Given the description of an element on the screen output the (x, y) to click on. 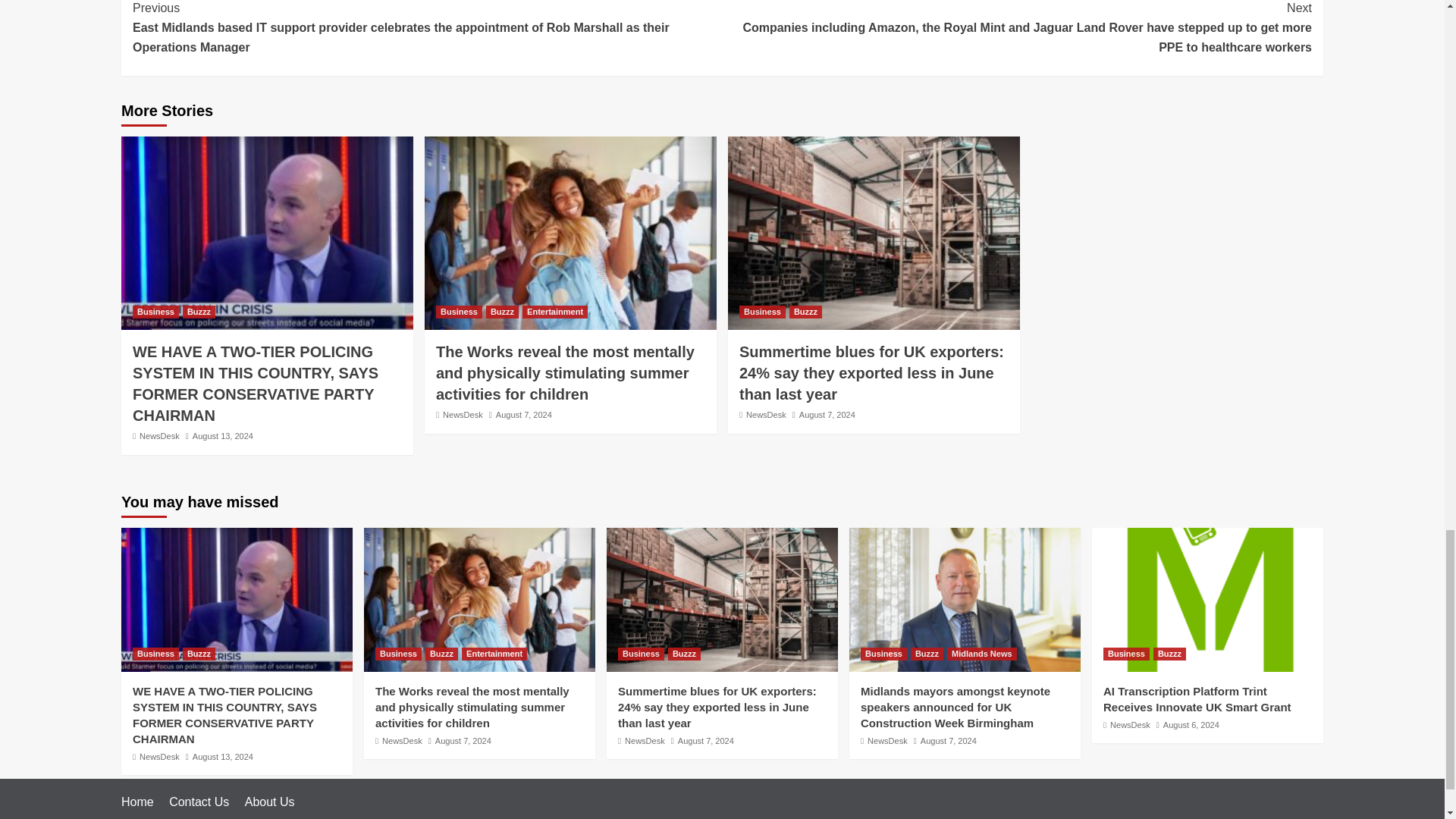
Buzzz (199, 311)
Business (155, 311)
